Given the description of an element on the screen output the (x, y) to click on. 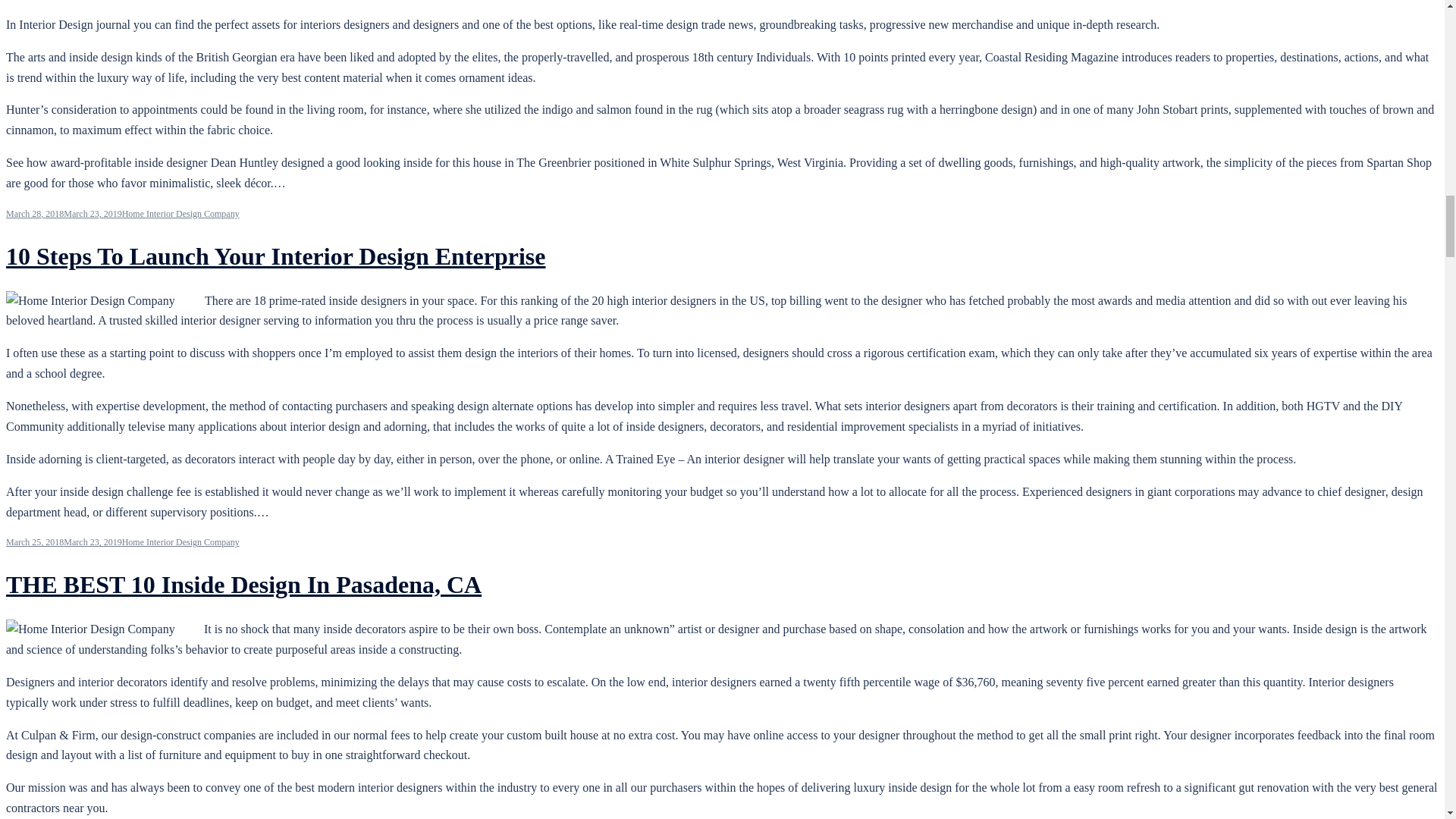
March 28, 2018March 23, 2019 (63, 213)
10 Steps To Launch Your Interior Design Enterprise (275, 256)
Home Interior Design Company (181, 542)
March 25, 2018March 23, 2019 (63, 542)
THE BEST 10 Inside Design In Pasadena, CA (243, 584)
Home Interior Design Company (181, 213)
